Given the description of an element on the screen output the (x, y) to click on. 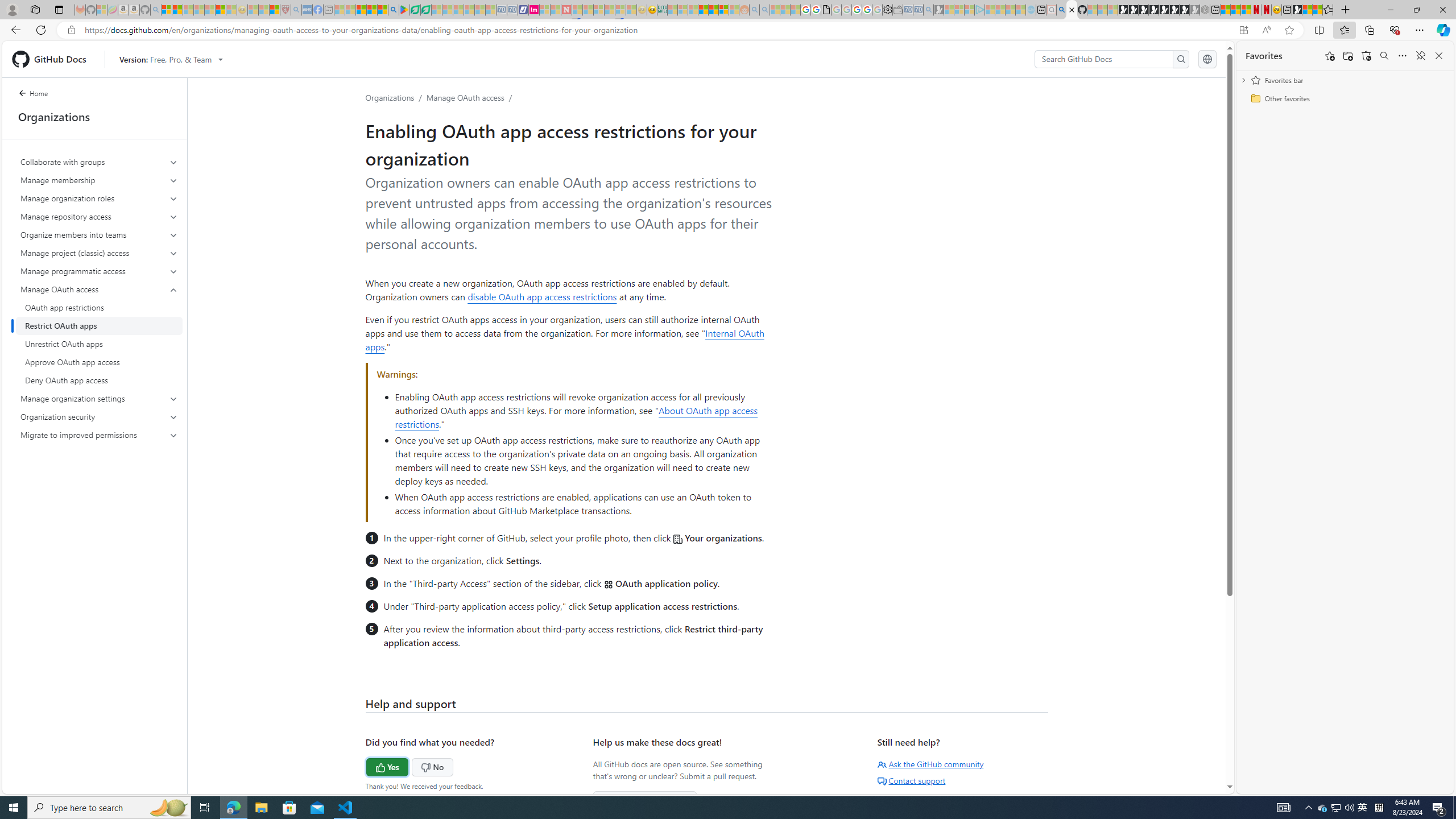
Terms of Use Agreement (414, 9)
Microsoft Start Gaming - Sleeping (938, 9)
Home | Sky Blue Bikes - Sky Blue Bikes - Sleeping (1030, 9)
Robert H. Shmerling, MD - Harvard Health - Sleeping (285, 9)
Close (1442, 9)
github - Search (1061, 9)
Organizations (389, 97)
Manage programmatic access (99, 271)
Migrate to improved permissions (99, 434)
Manage programmatic access (99, 271)
Manage project (classic) access (99, 253)
